Given the description of an element on the screen output the (x, y) to click on. 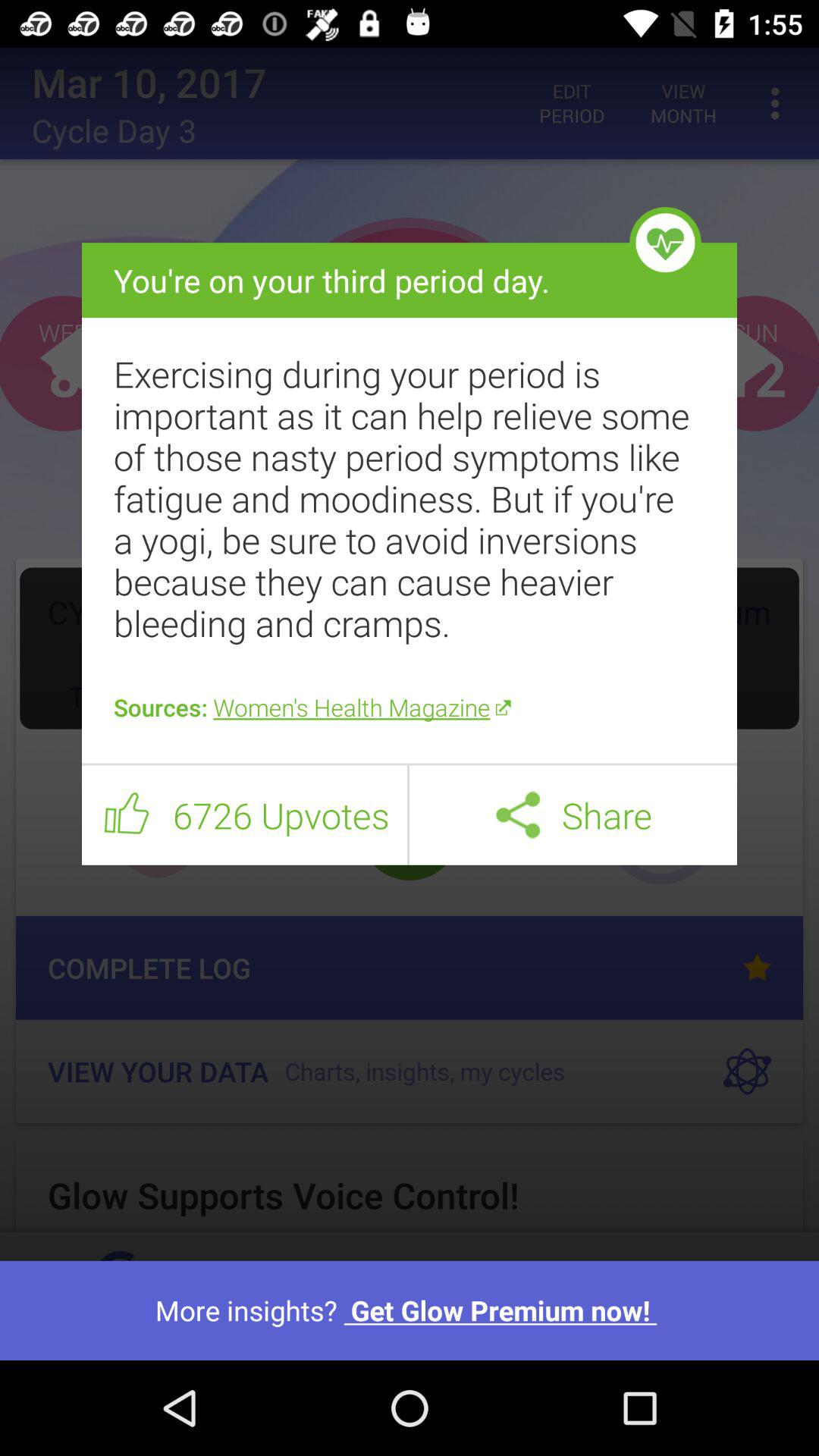
click the item above more insights get item (409, 974)
